Given the description of an element on the screen output the (x, y) to click on. 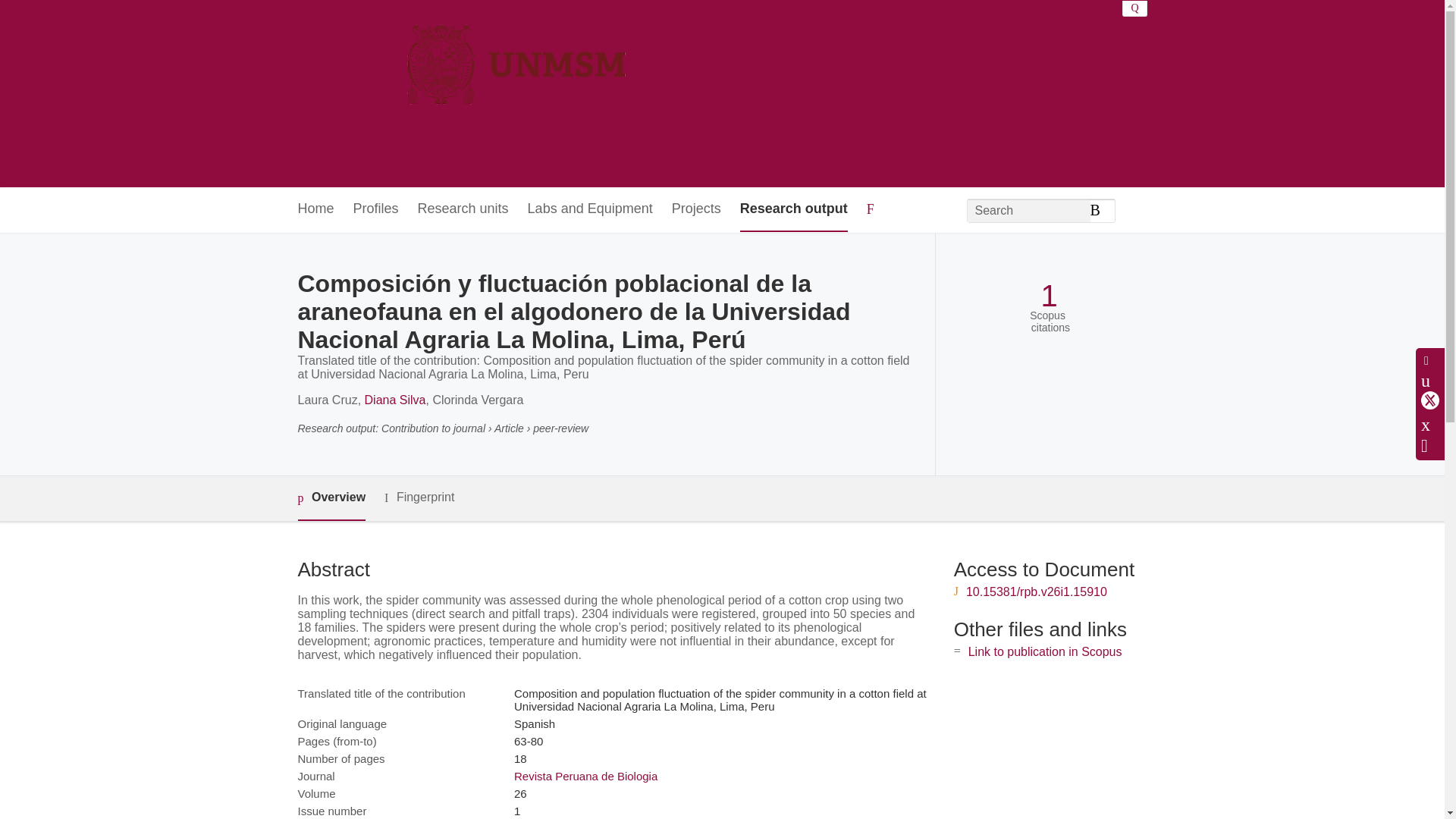
Revista Peruana de Biologia (585, 775)
Research output (793, 209)
Profiles (375, 209)
Link to publication in Scopus (1045, 651)
Fingerprint (419, 497)
Projects (695, 209)
Labs and Equipment (589, 209)
Universidad Nacional Mayor de San Marcos Home (463, 93)
Research units (462, 209)
